Given the description of an element on the screen output the (x, y) to click on. 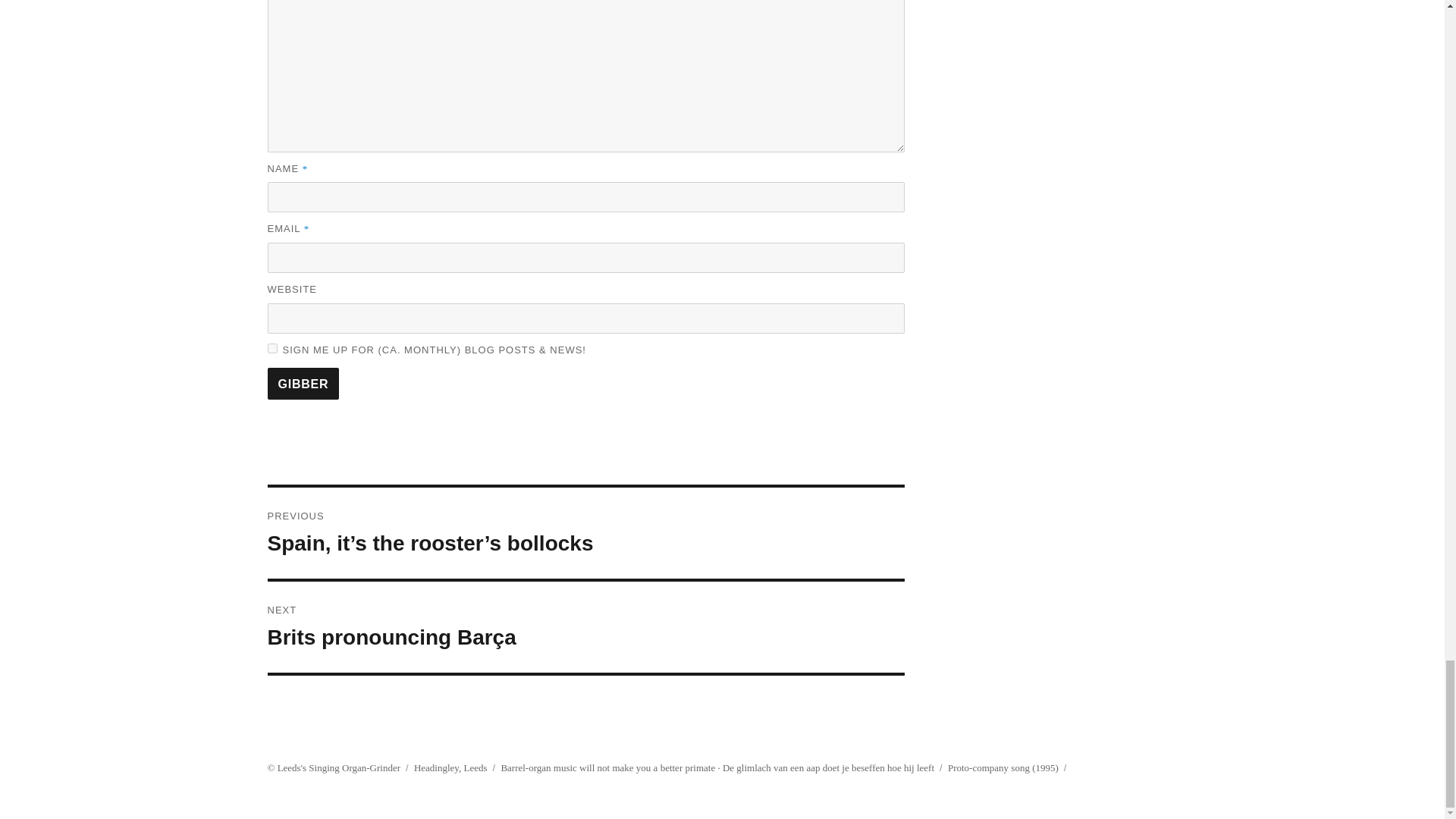
1 (271, 347)
Gibber (302, 383)
